Given the description of an element on the screen output the (x, y) to click on. 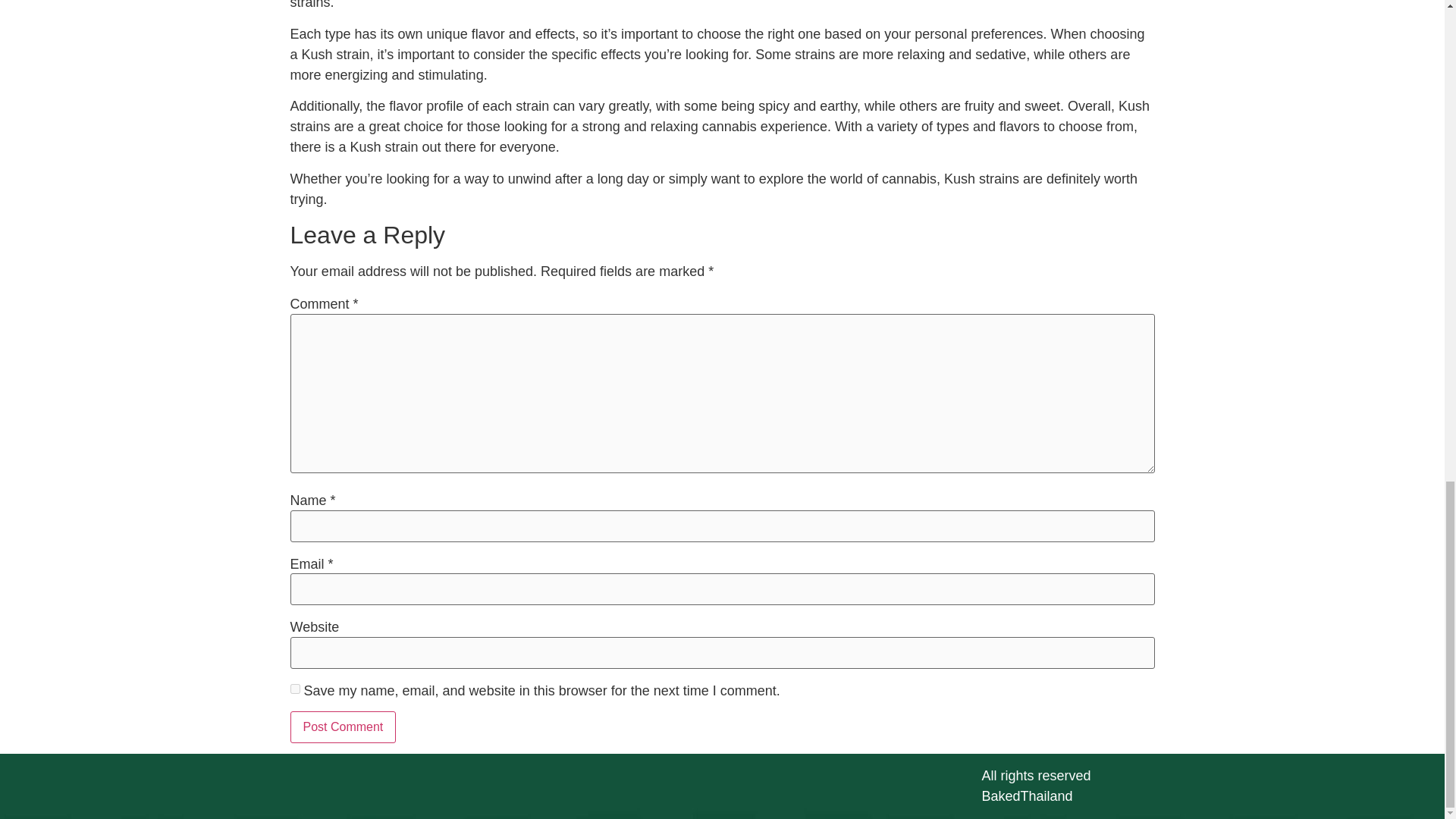
Post Comment (342, 726)
Post Comment (342, 726)
yes (294, 688)
